Given the description of an element on the screen output the (x, y) to click on. 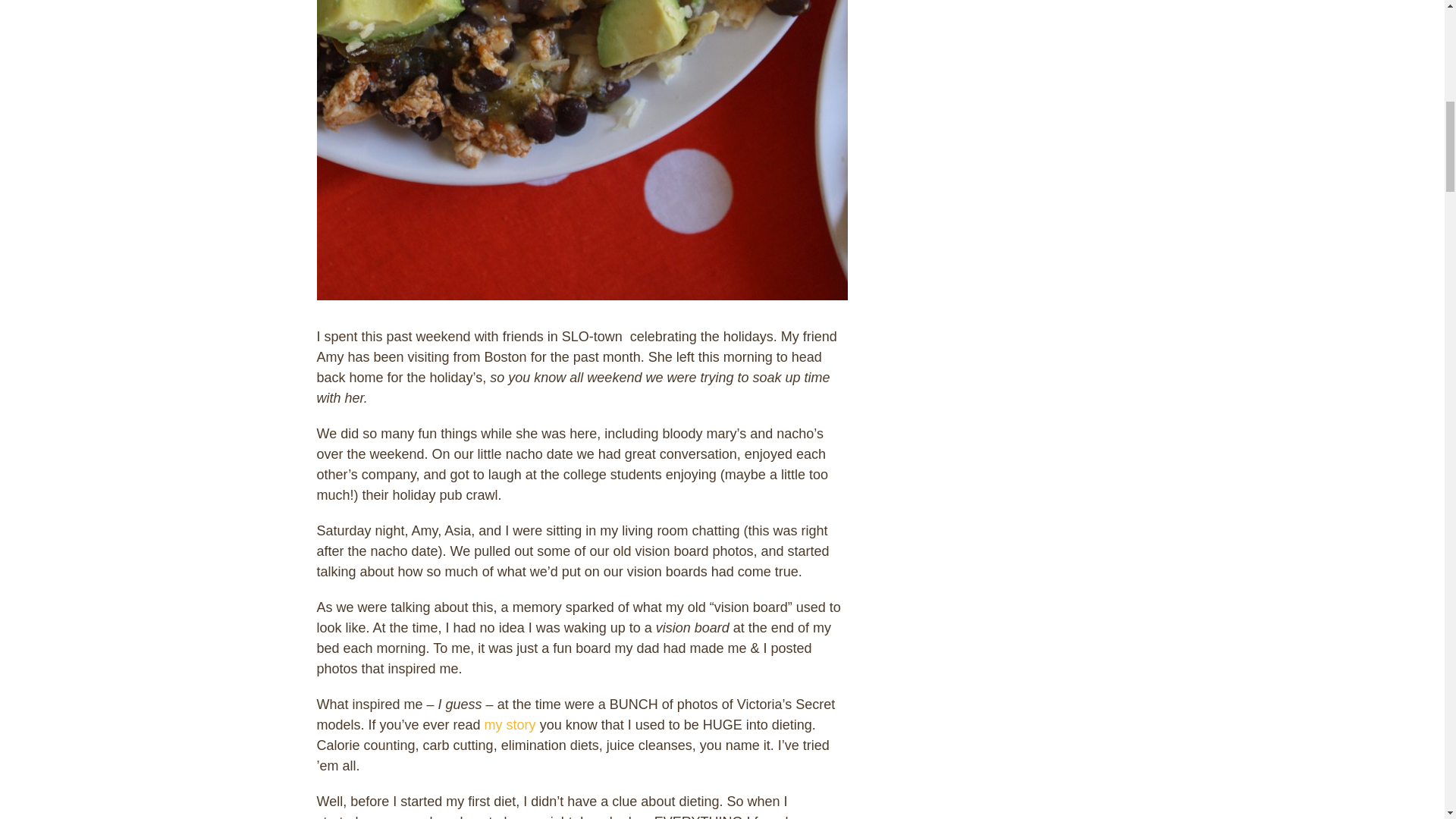
my story (509, 724)
